Given the description of an element on the screen output the (x, y) to click on. 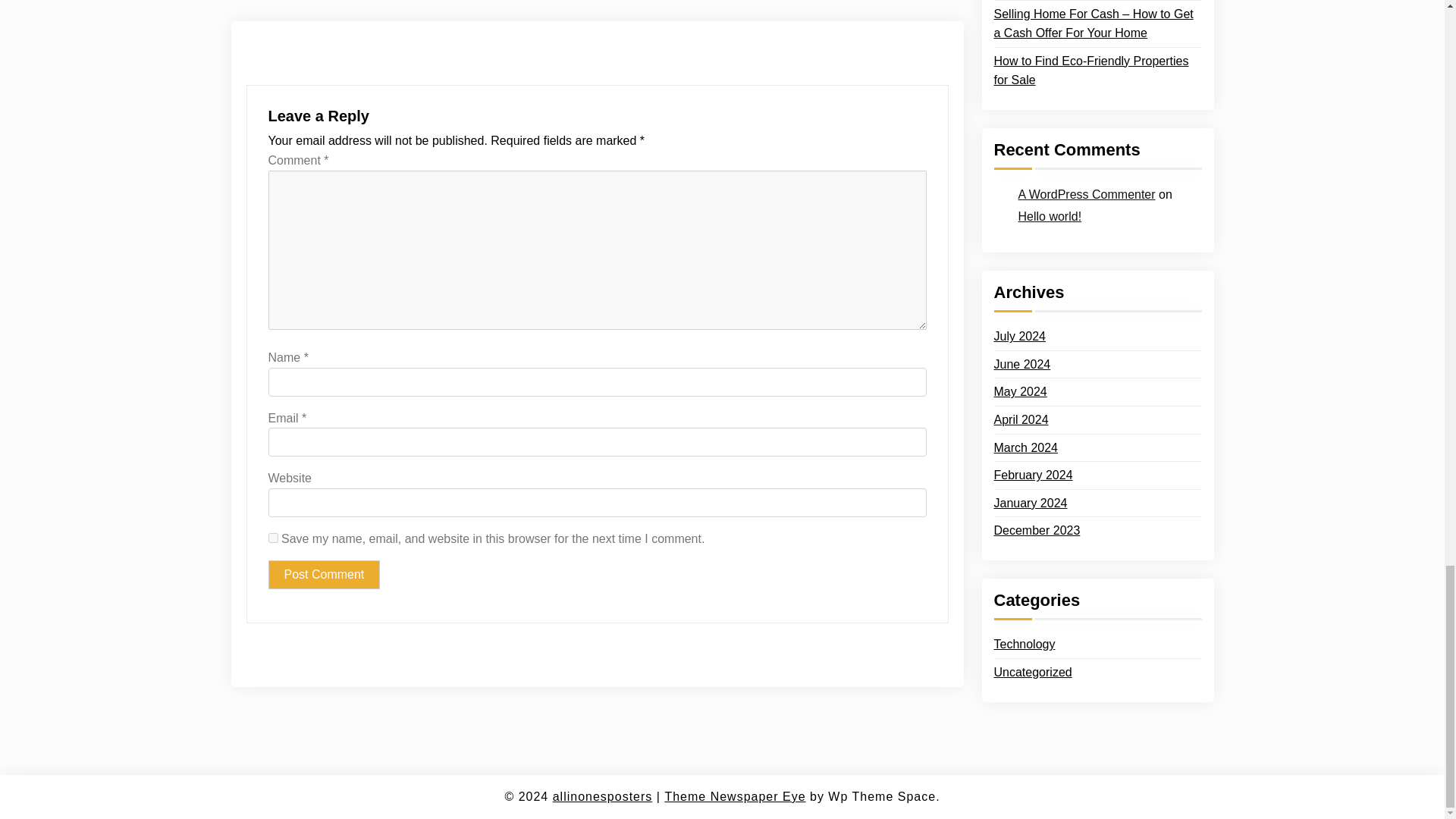
yes (272, 537)
Post Comment (323, 574)
Post Comment (323, 574)
